Given the description of an element on the screen output the (x, y) to click on. 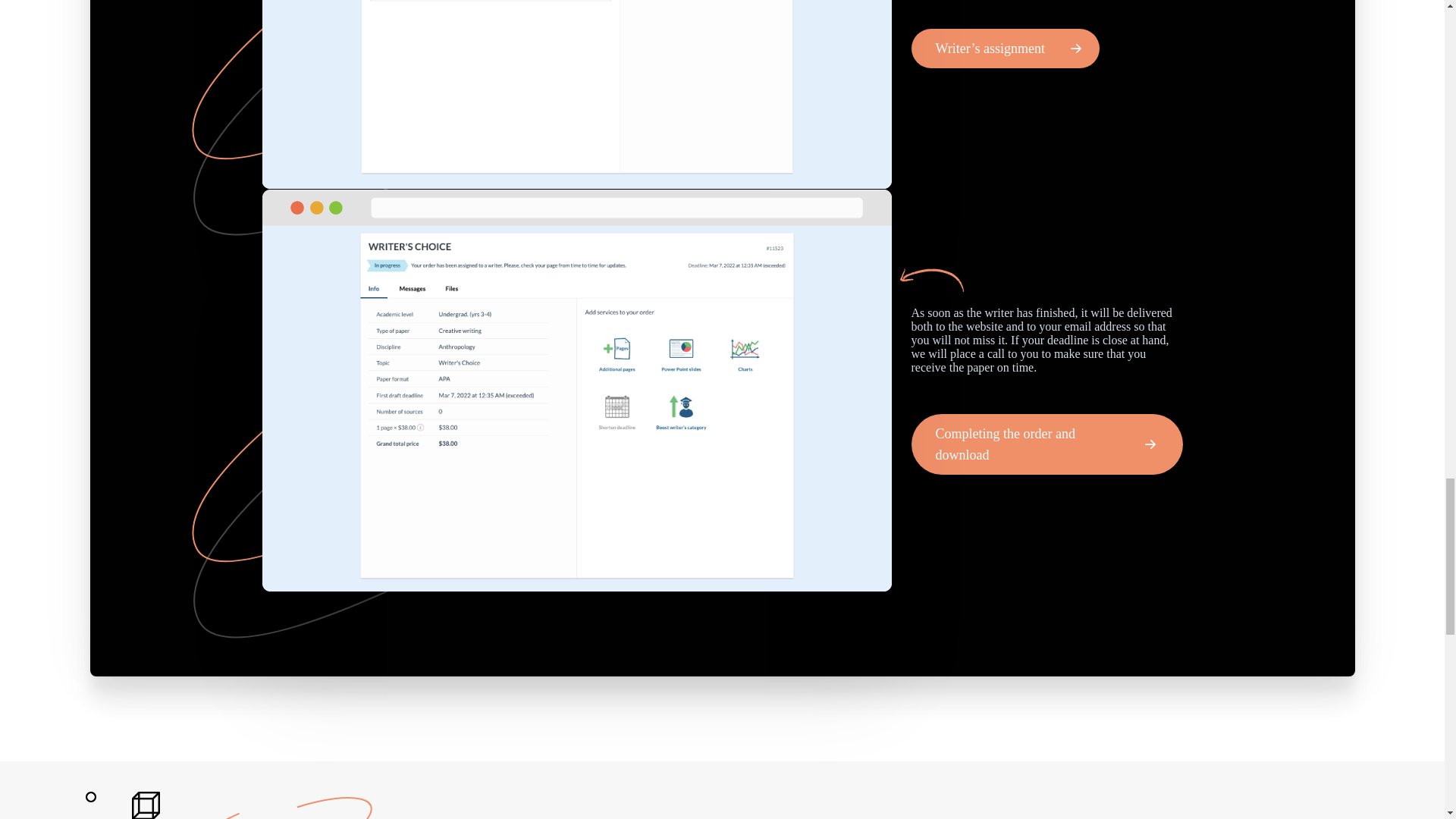
Completing the order and download (1046, 444)
